Given the description of an element on the screen output the (x, y) to click on. 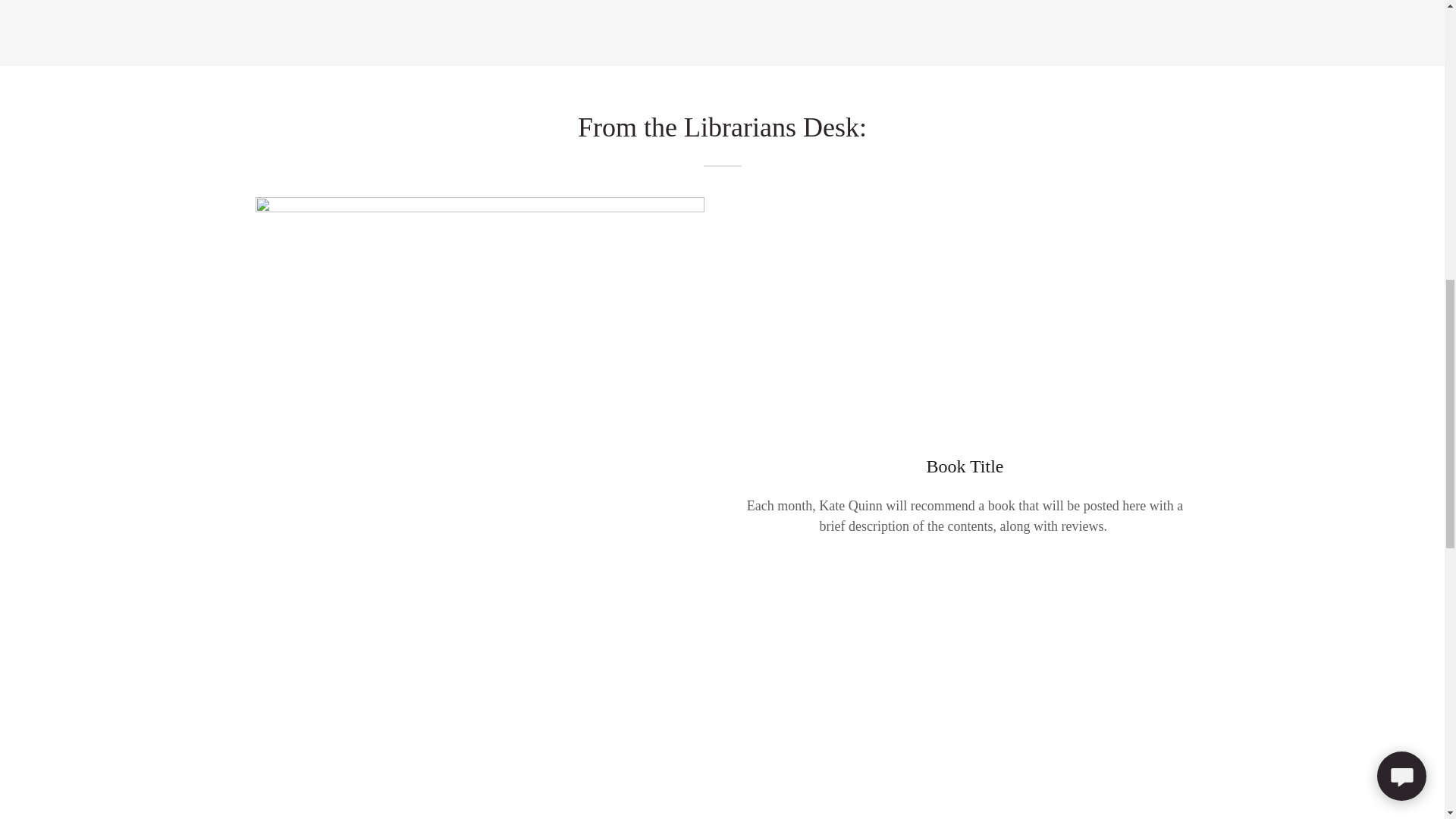
ACCEPT (1274, 324)
